Given the description of an element on the screen output the (x, y) to click on. 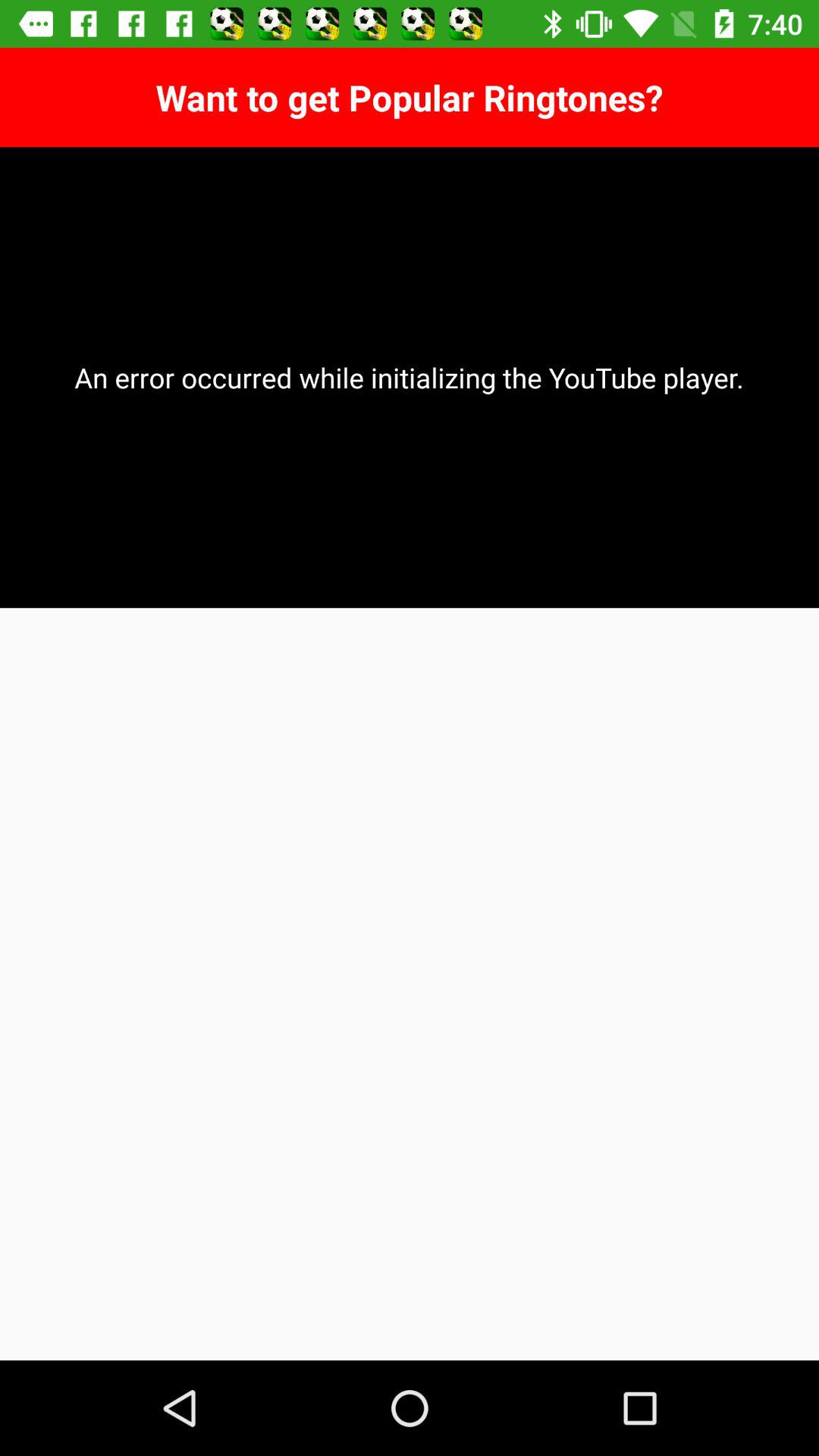
open the app above the an error occurred (409, 97)
